Given the description of an element on the screen output the (x, y) to click on. 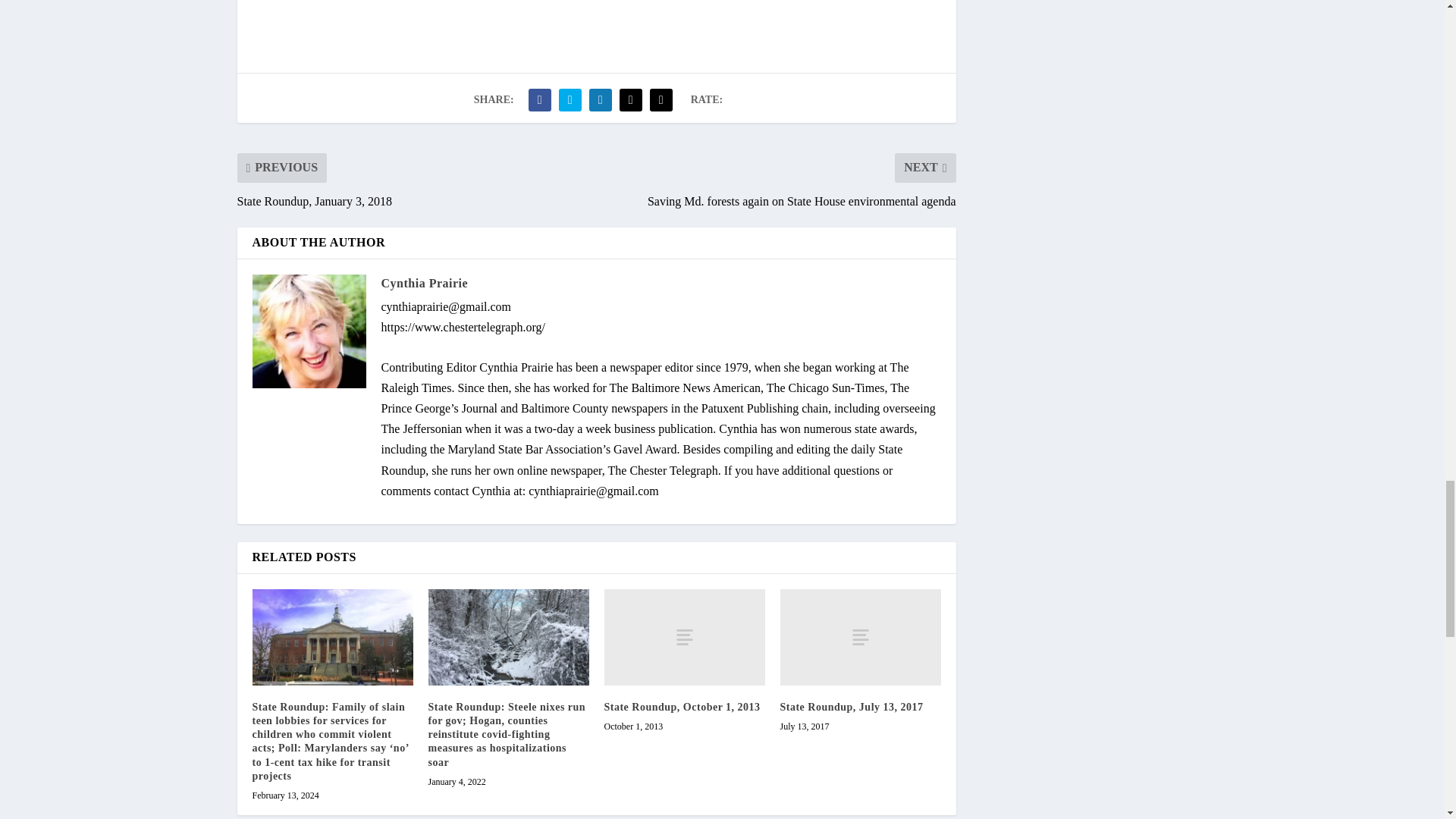
Share "State Roundup, January 4, 2018" via LinkedIn (600, 100)
State Roundup, July 13, 2017 (859, 636)
Share "State Roundup, January 4, 2018" via Print (661, 100)
Share "State Roundup, January 4, 2018" via Facebook (539, 100)
Share "State Roundup, January 4, 2018" via Email (630, 100)
Share "State Roundup, January 4, 2018" via Twitter (569, 100)
State Roundup, October 1, 2013 (684, 636)
View all posts by Cynthia Prairie (423, 282)
